Given the description of an element on the screen output the (x, y) to click on. 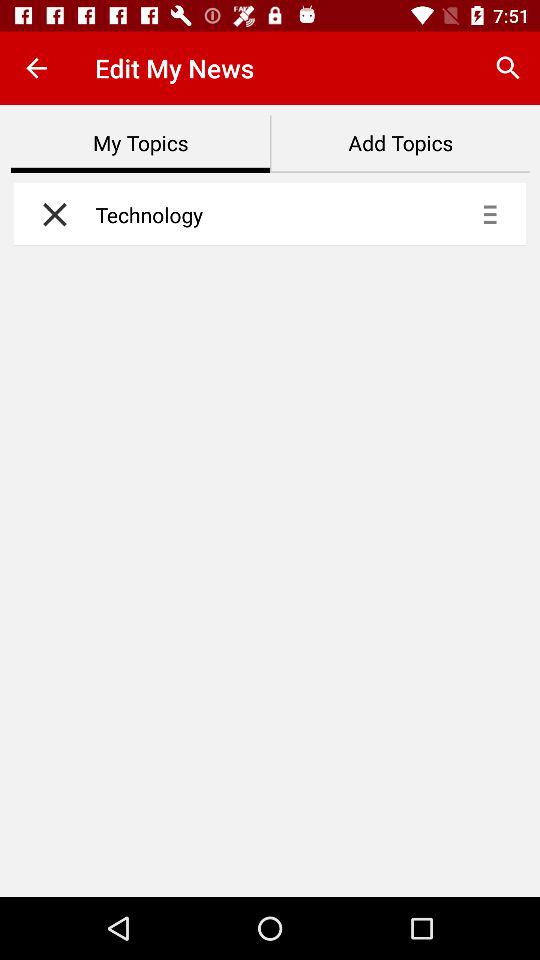
choose the item to the right of the my topics item (400, 143)
